Given the description of an element on the screen output the (x, y) to click on. 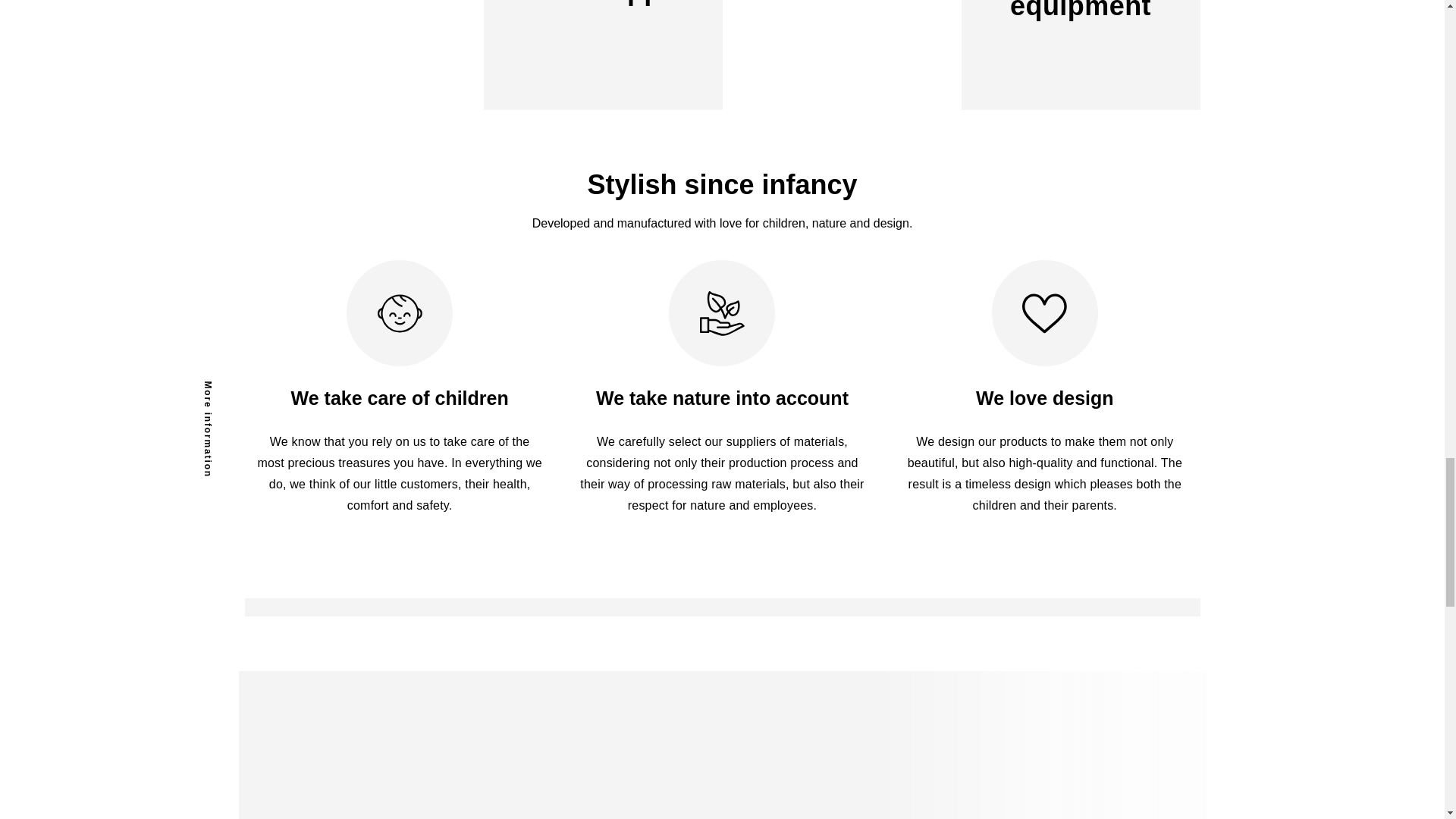
I need nappies (483, 54)
I need baby equipment (960, 54)
